Given the description of an element on the screen output the (x, y) to click on. 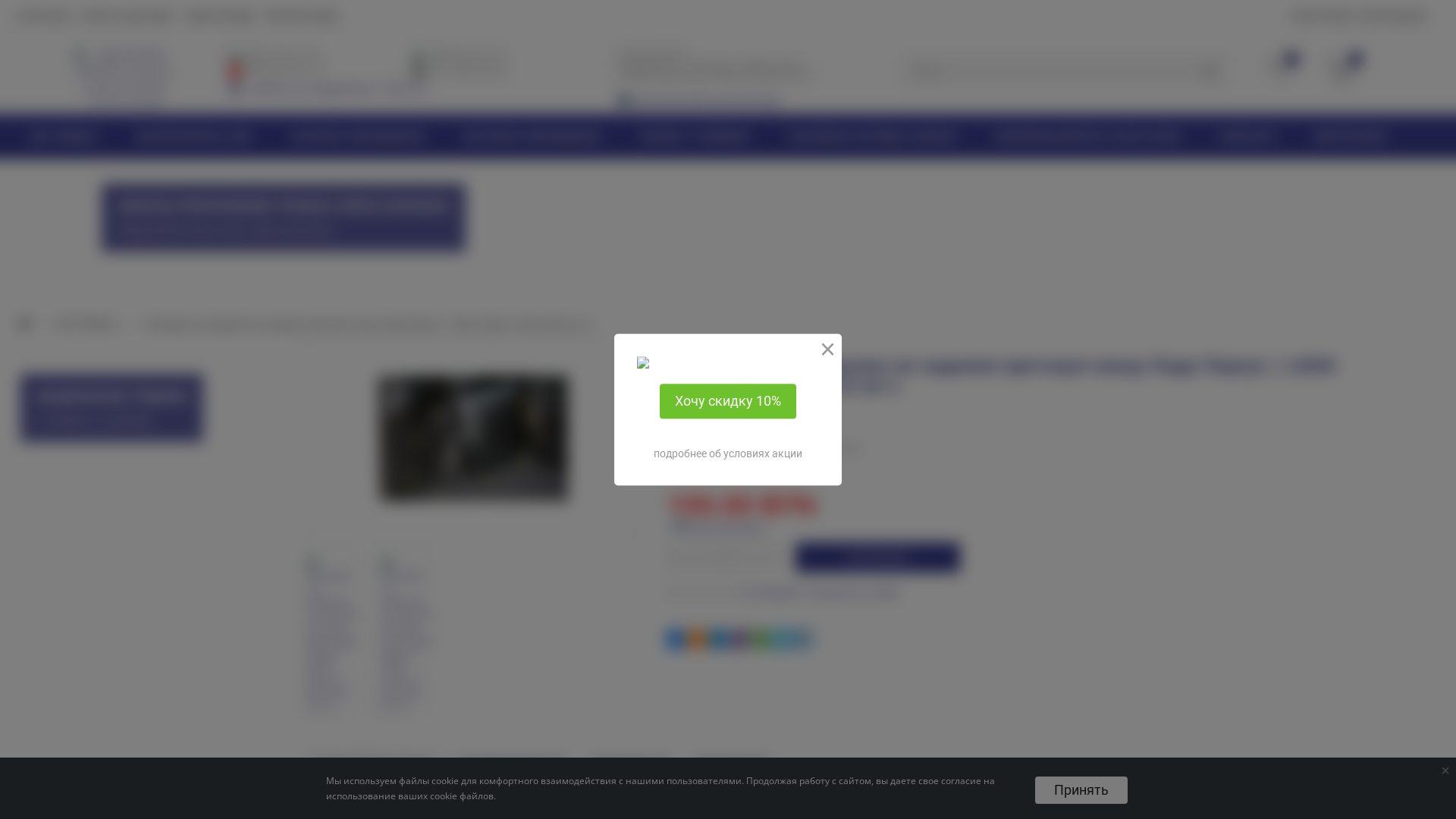
0 Element type: text (1279, 67)
(044) 536-29-10 Element type: text (465, 54)
(029) 506-29-10 Element type: text (282, 69)
WhatsApp Element type: hover (760, 639)
Viber Element type: hover (739, 639)
(044) 736-29-10 Element type: text (282, 54)
Telegram Element type: hover (802, 639)
(017) 393-28-39 Element type: text (465, 69)
Skype Element type: hover (781, 639)
